Given the description of an element on the screen output the (x, y) to click on. 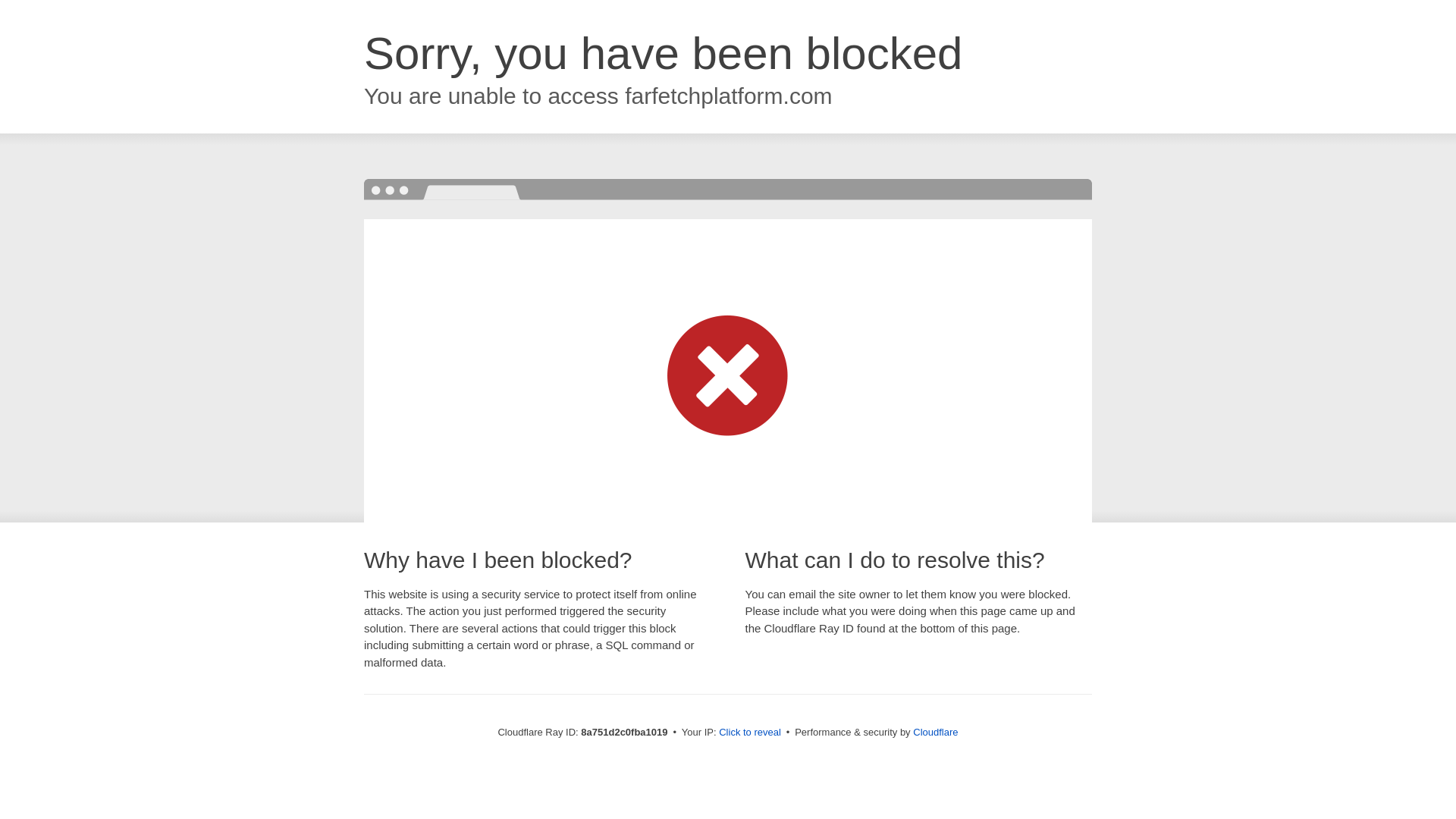
Click to reveal (749, 732)
Cloudflare (935, 731)
